Given the description of an element on the screen output the (x, y) to click on. 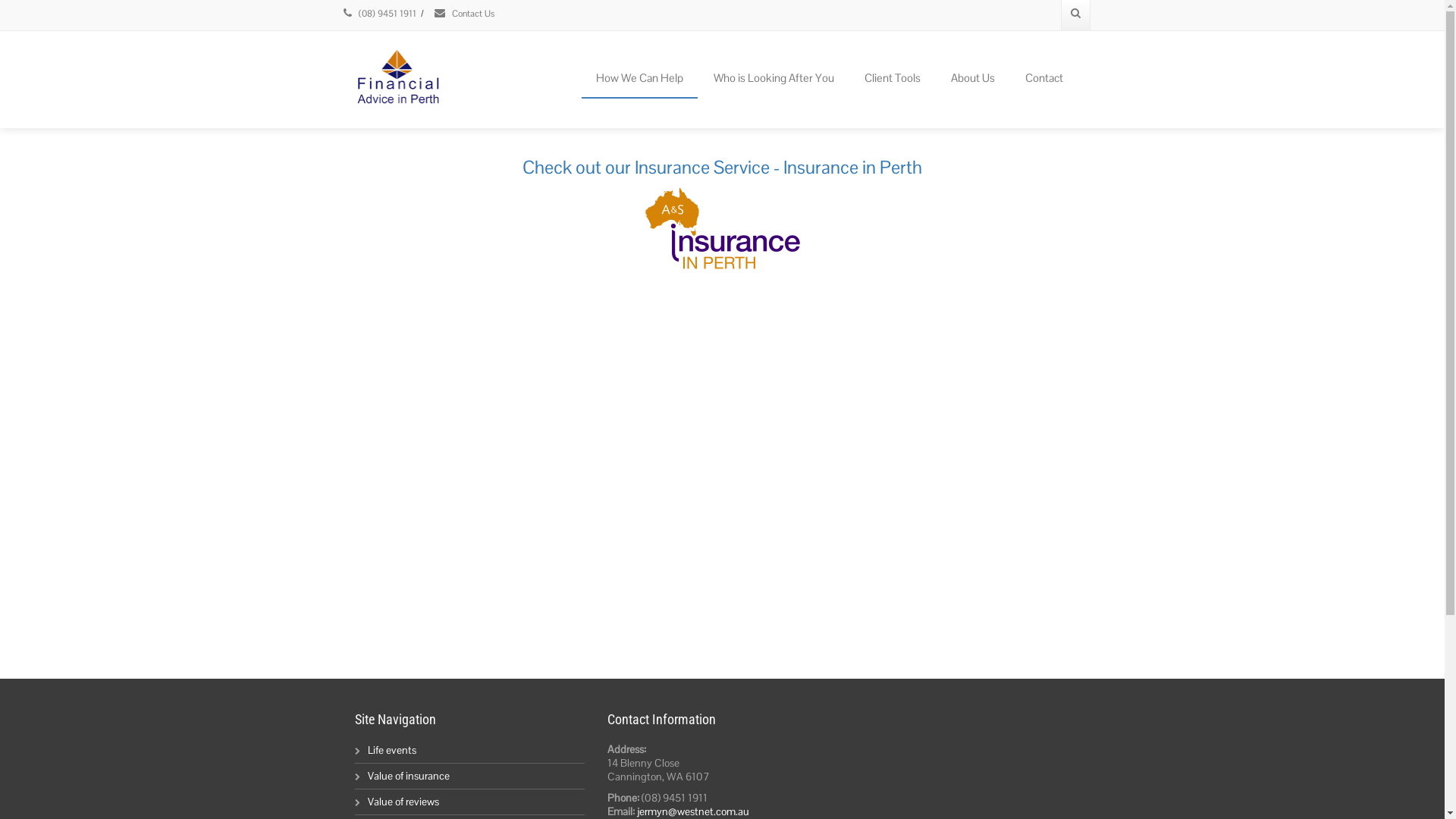
Who is Looking After You Element type: text (773, 78)
Value of insurance Element type: text (407, 775)
How We Can Help Element type: text (638, 78)
(08) 9451 1911 Element type: text (379, 13)
jermyn@westnet.com.au Element type: text (693, 811)
Life events Element type: text (391, 749)
Contact Us Element type: text (463, 13)
Value of reviews Element type: text (402, 801)
Contact Element type: text (1043, 78)
Client Tools Element type: text (891, 78)
Check out our Insurance Service - Insurance in Perth Element type: text (721, 214)
About Us Element type: text (971, 78)
